Given the description of an element on the screen output the (x, y) to click on. 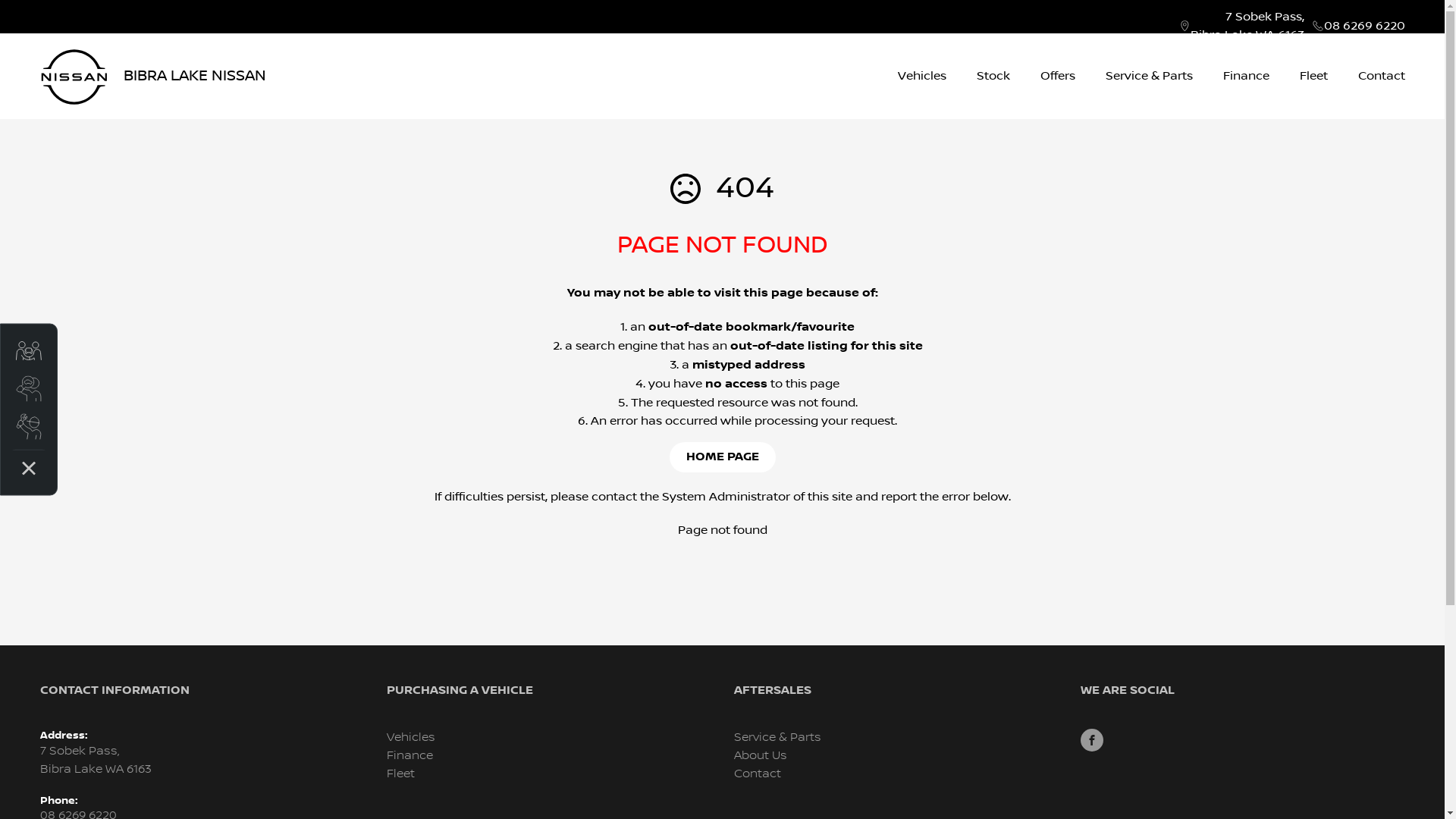
Vehicles Element type: text (410, 737)
7 Sobek Pass,
Bibra Lake WA 6163 Element type: text (1247, 25)
BIBRA LAKE NISSAN Element type: text (152, 76)
Stock Element type: text (993, 75)
Finance Element type: text (409, 755)
Service & Parts Element type: text (777, 737)
Finance Element type: text (1245, 75)
HOME PAGE Element type: text (721, 457)
Vehicles Element type: text (921, 75)
Service & Parts Element type: text (1149, 75)
About Us Element type: text (760, 755)
08 6269 6220 Element type: text (1364, 25)
Fleet Element type: text (400, 773)
Contact Element type: text (757, 773)
Contact Element type: text (1373, 75)
Fleet Element type: text (1313, 75)
Offers Element type: text (1057, 75)
